Given the description of an element on the screen output the (x, y) to click on. 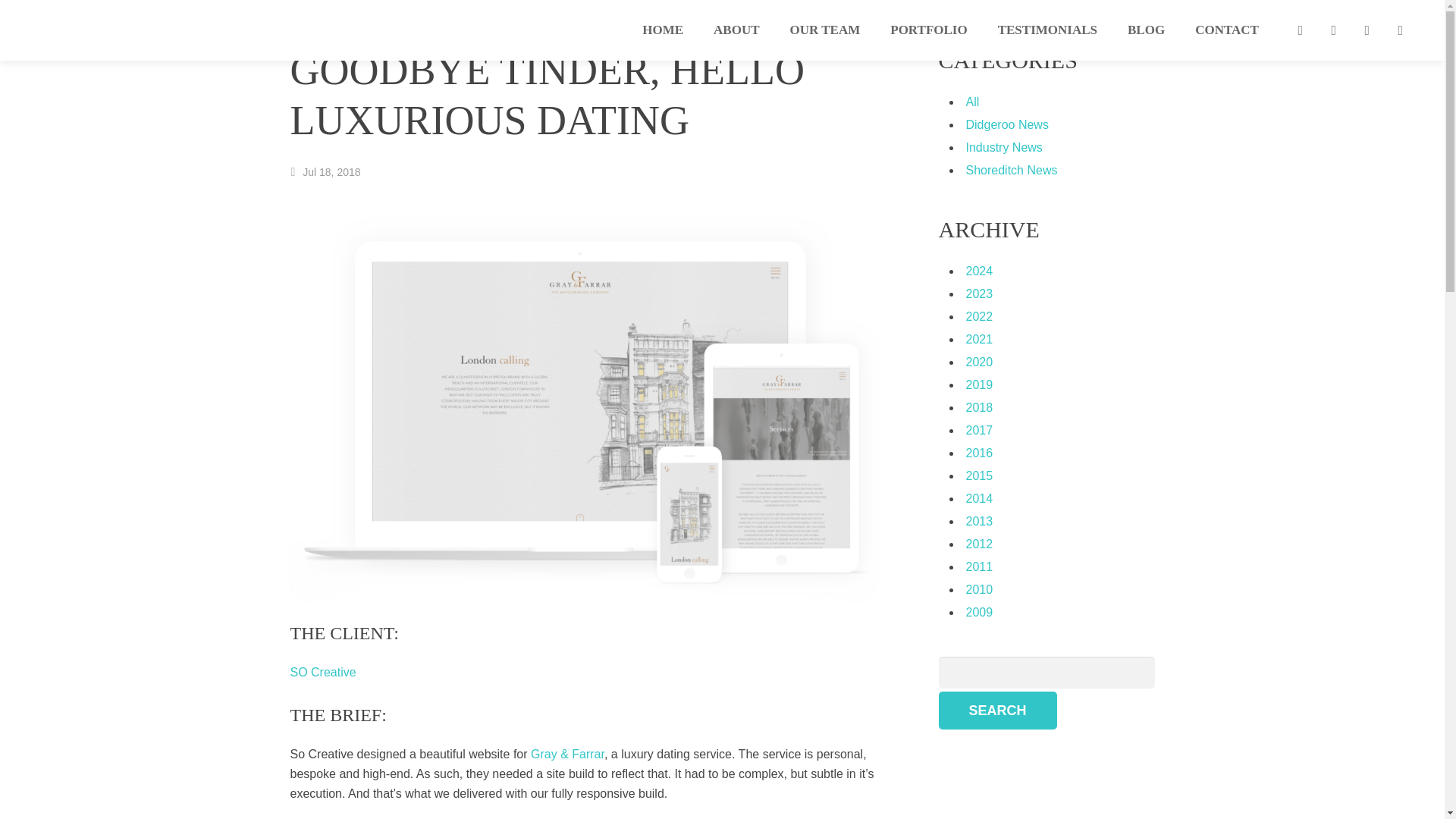
SO Creative (322, 671)
2023 (979, 293)
TESTIMONIALS (1047, 30)
2022 (979, 316)
2021 (979, 338)
HOME (662, 30)
2019 (979, 384)
PORTFOLIO (928, 30)
2020 (979, 361)
Shoreditch News (1012, 169)
BLOG (1145, 30)
2017 (979, 430)
CONTACT (1226, 30)
ABOUT (736, 30)
Search (998, 710)
